Given the description of an element on the screen output the (x, y) to click on. 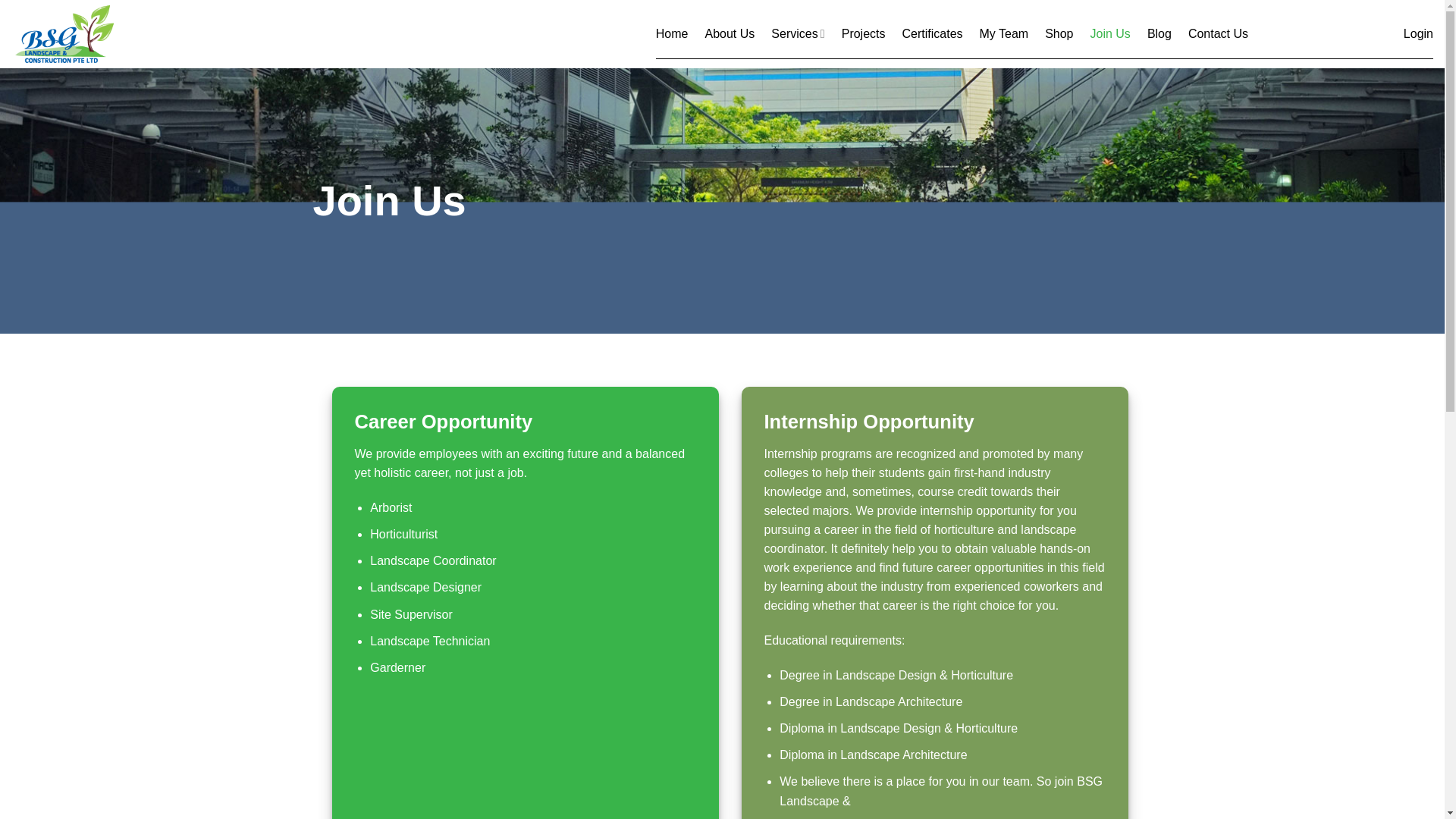
Join Us (1110, 32)
Cart (1325, 33)
Projects (863, 32)
My Team (1004, 32)
Shop (1059, 32)
Login (1417, 32)
Contact Us (1217, 32)
About Us (729, 32)
Services (797, 33)
Certificates (932, 32)
